Given the description of an element on the screen output the (x, y) to click on. 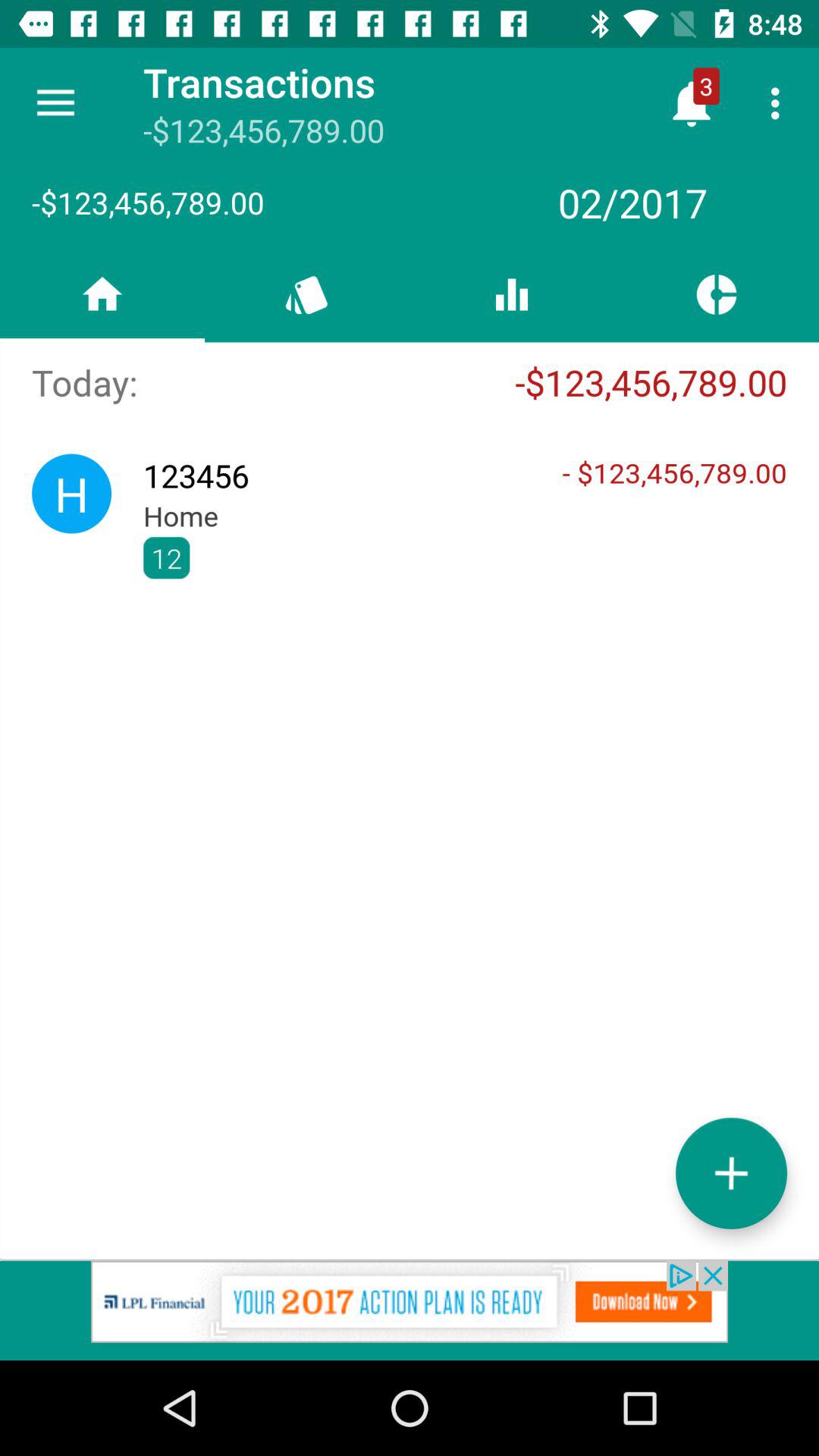
press the icon next to the transactions item (55, 103)
